Given the description of an element on the screen output the (x, y) to click on. 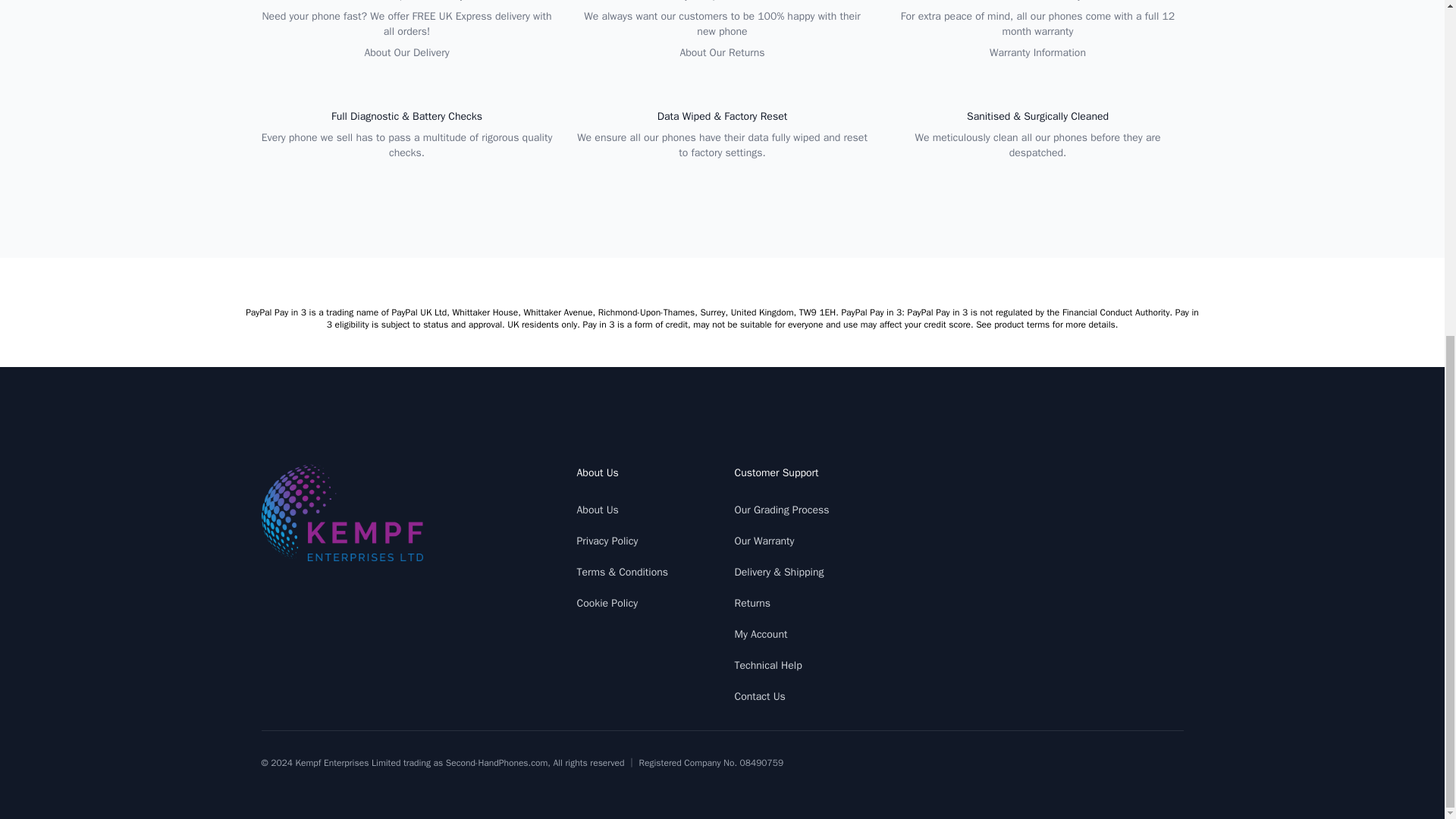
Our Warranty (763, 540)
See product terms for more details (1045, 324)
Technical Help (767, 665)
About Our Delivery (406, 51)
Contact Us (758, 696)
Returns (751, 603)
Privacy Policy (606, 540)
Cookie Policy (606, 603)
About Us (596, 509)
My Account (760, 634)
